Given the description of an element on the screen output the (x, y) to click on. 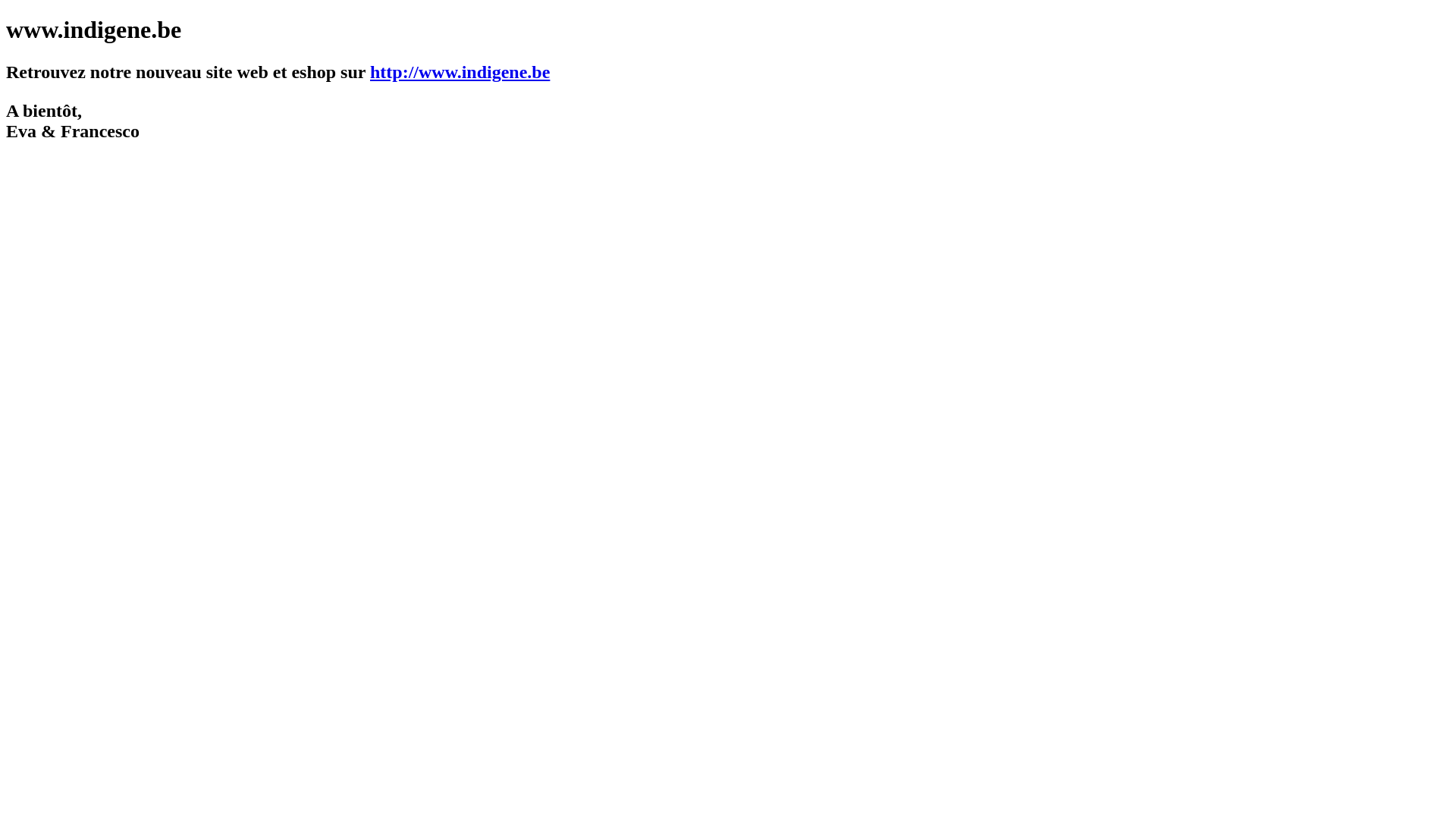
http://www.indigene.be Element type: text (459, 71)
